Given the description of an element on the screen output the (x, y) to click on. 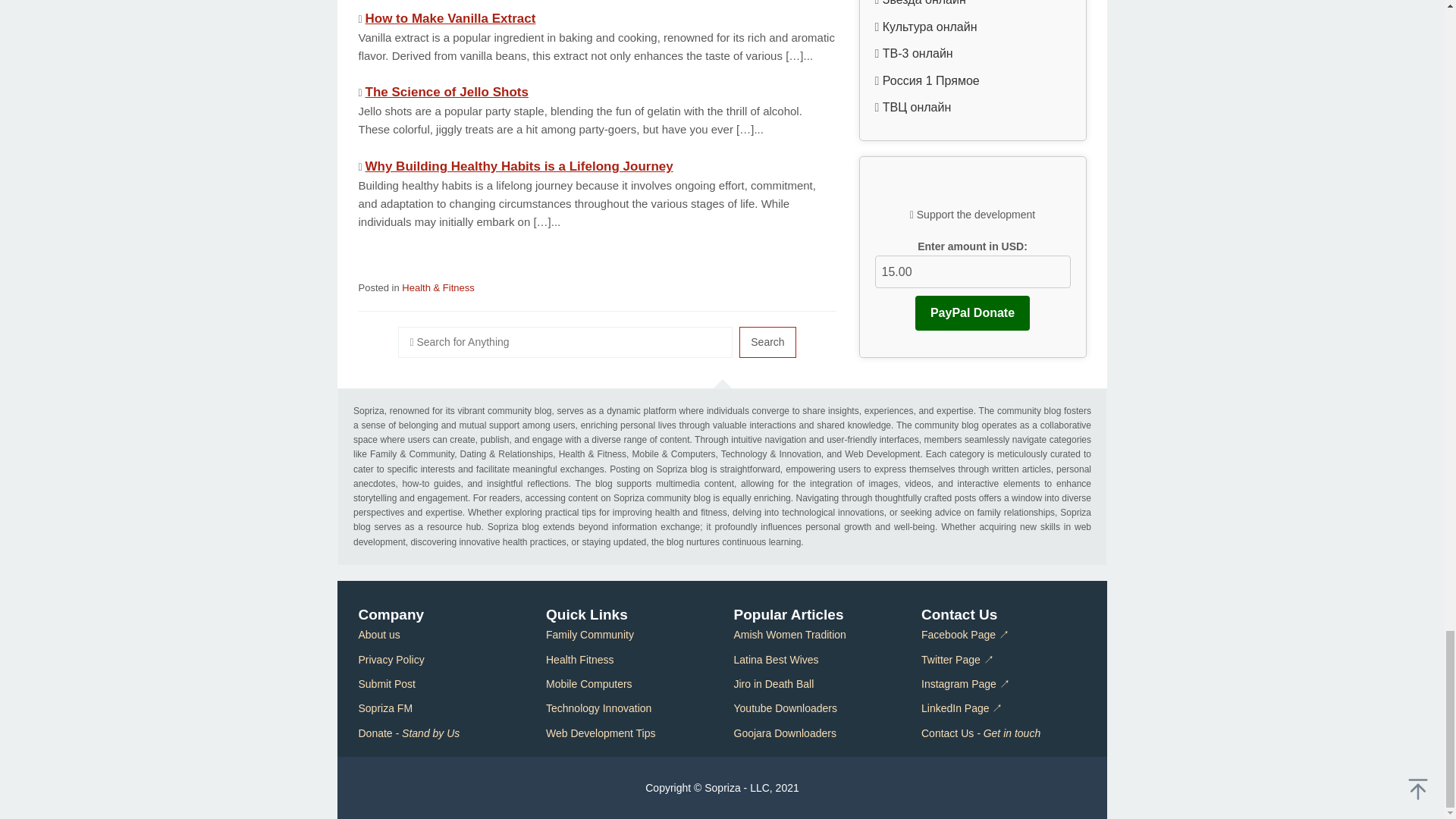
Why Building Healthy Habits is a Lifelong Journey (518, 165)
Why Building Healthy Habits is a Lifelong Journey (518, 165)
Search (766, 341)
The Science of Jello Shots (446, 92)
How to Make Vanilla Extract (450, 18)
How to Make Vanilla Extract (450, 18)
The Science of Jello Shots (446, 92)
